Given the description of an element on the screen output the (x, y) to click on. 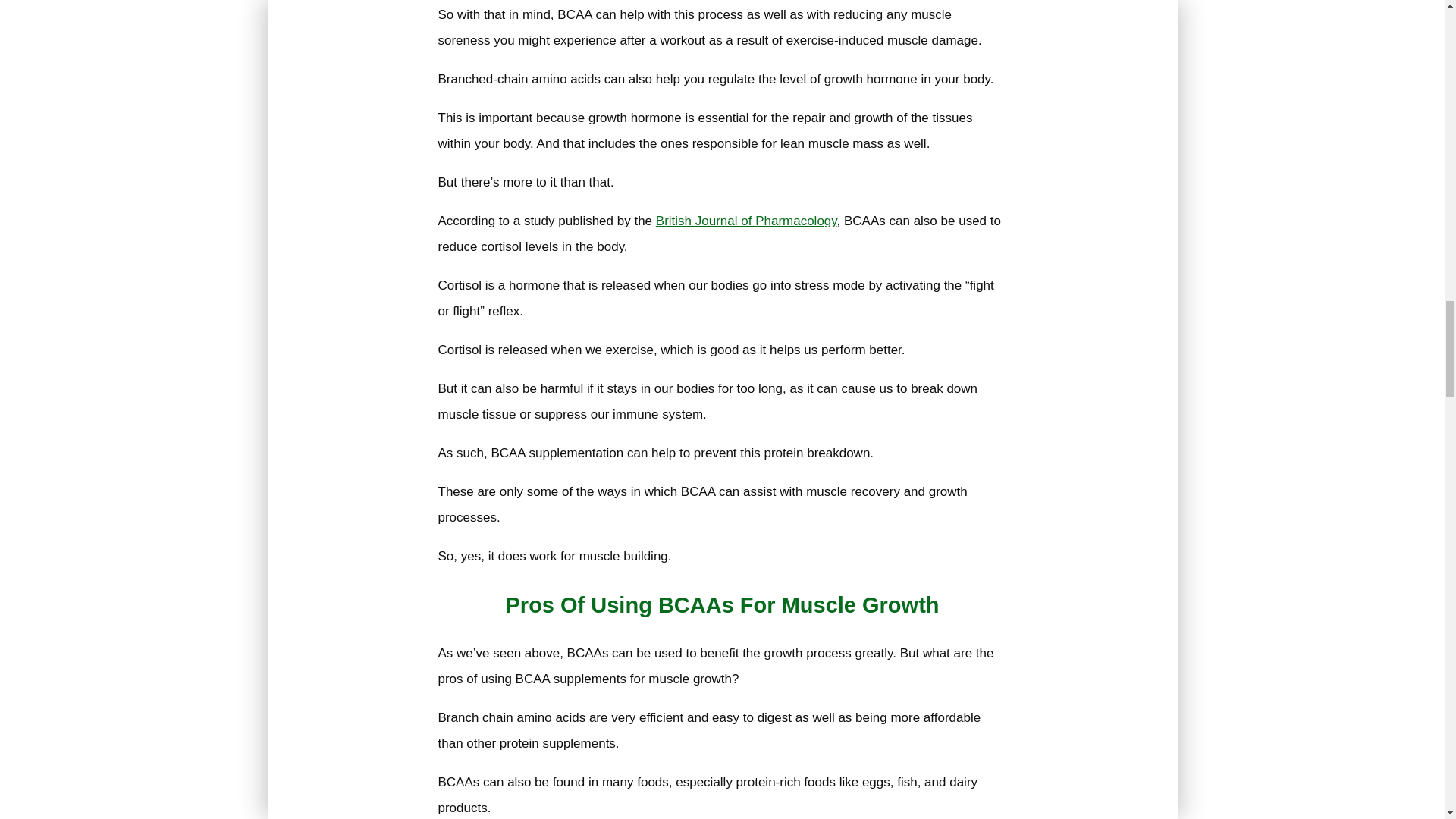
British Journal of Pharmacology (746, 220)
